Given the description of an element on the screen output the (x, y) to click on. 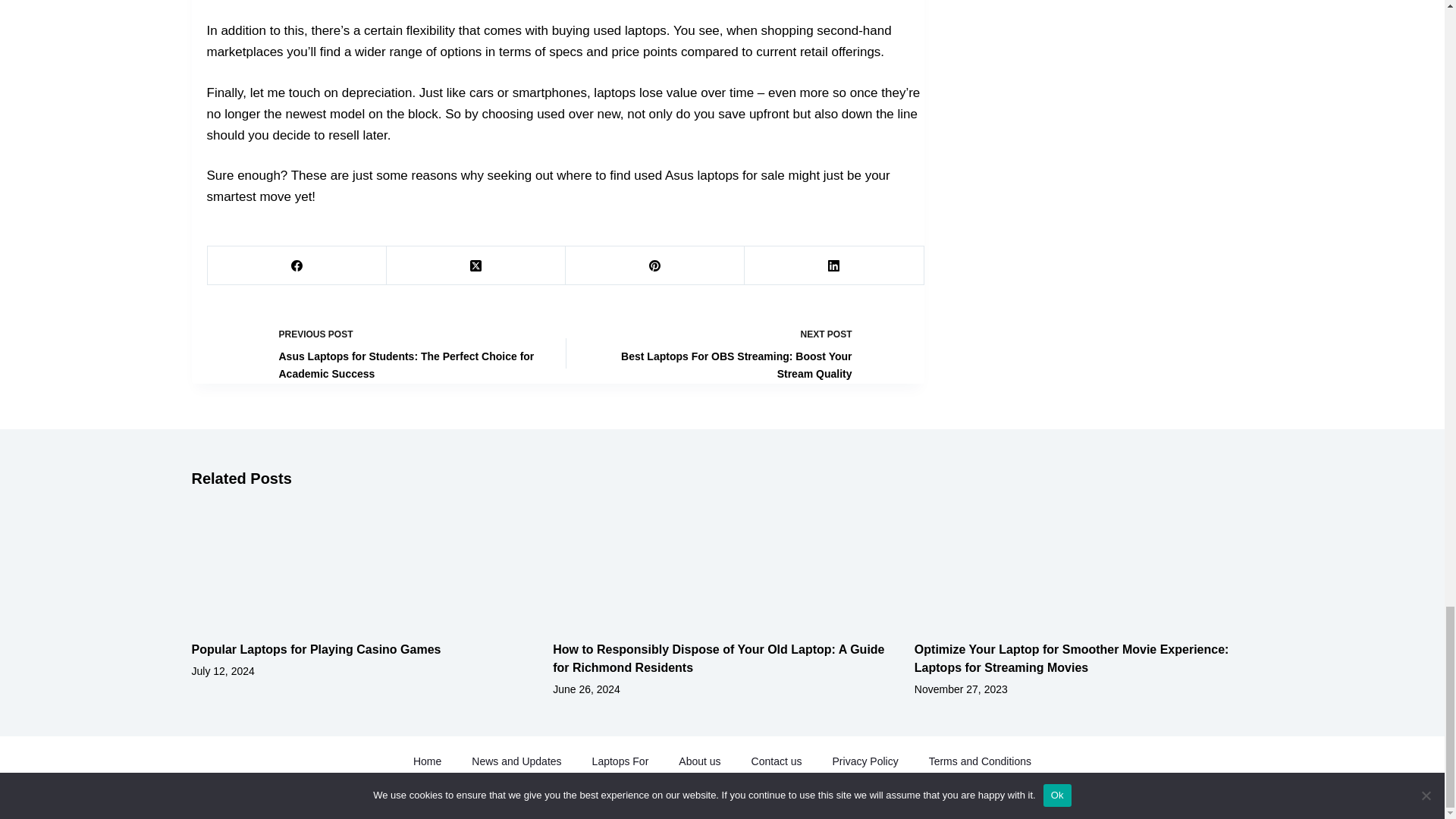
Popular Laptops for Playing Casino Games (315, 649)
